Given the description of an element on the screen output the (x, y) to click on. 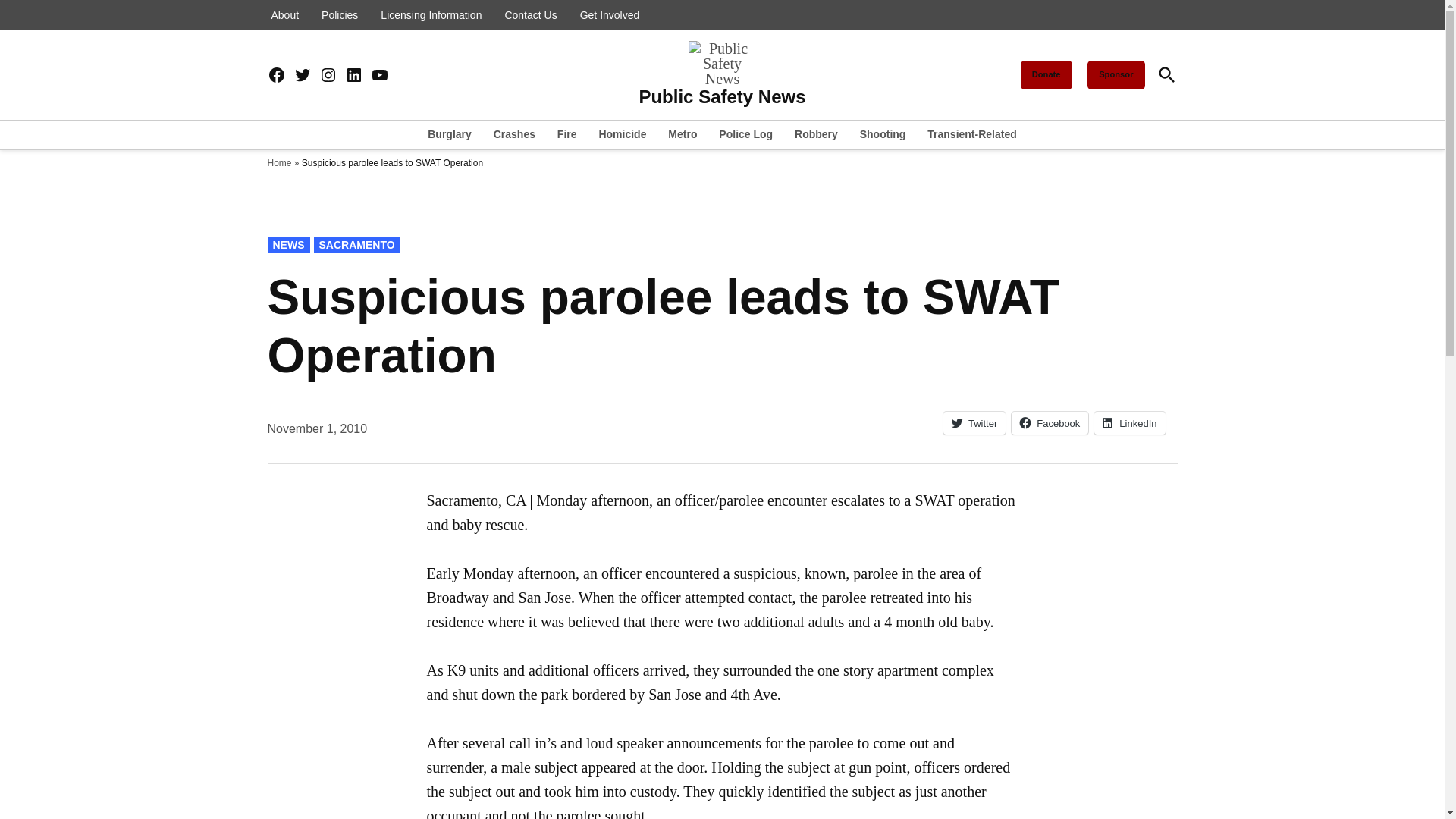
Get Involved (609, 14)
Facebook Page (275, 75)
Licensing Information (430, 14)
About (284, 14)
Donate (1045, 74)
Twitter Username (301, 75)
Instagram (327, 75)
Policies (339, 14)
Public Safety News (722, 96)
Click to share on Twitter (974, 422)
Contact Us (530, 14)
Sponsor (1115, 74)
Click to share on Facebook (1049, 422)
YouTube (378, 75)
Click to share on LinkedIn (1129, 422)
